Given the description of an element on the screen output the (x, y) to click on. 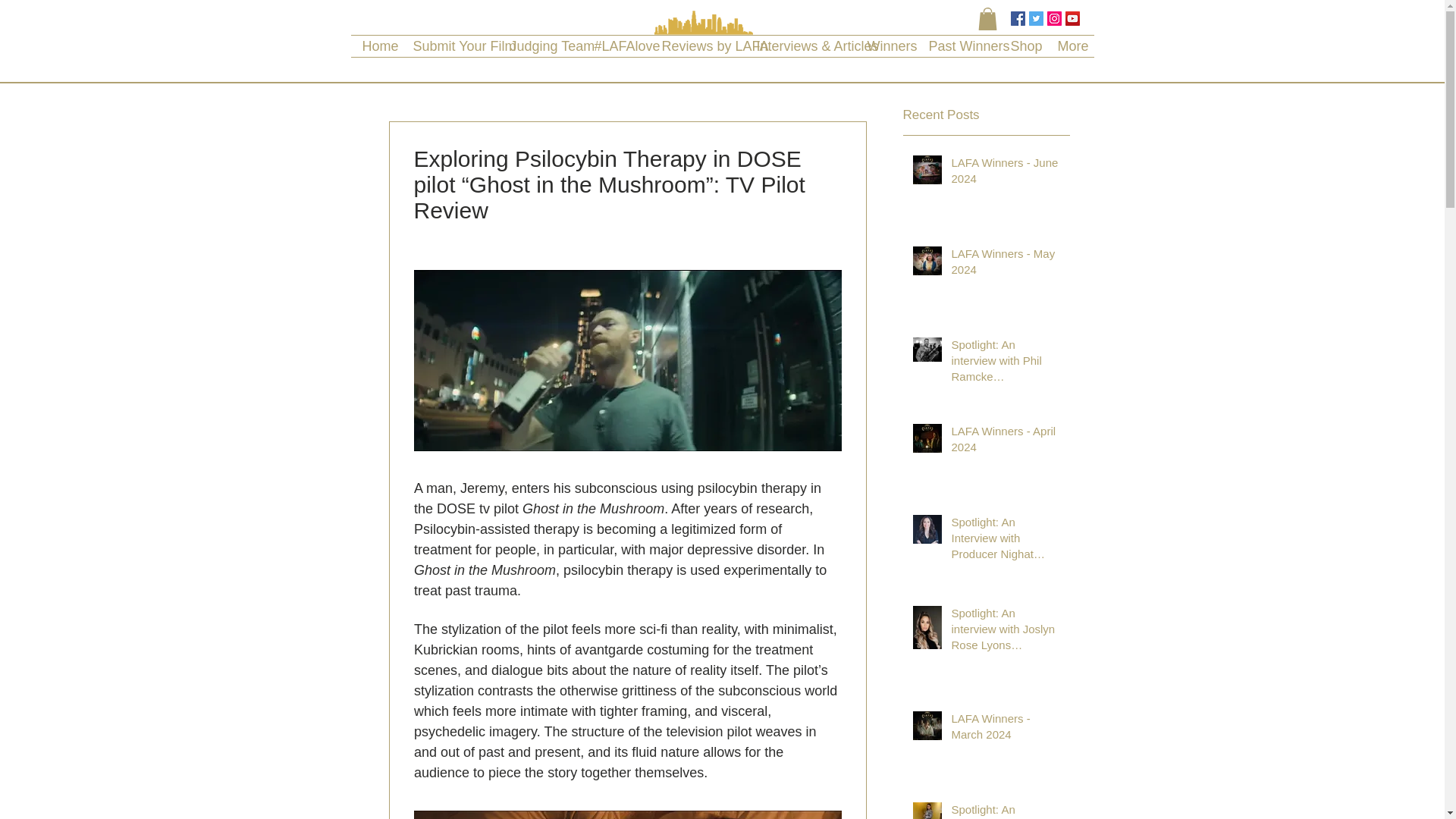
Submit Your Film (450, 46)
Home (375, 46)
Reviews by LAFA (697, 46)
Judging Team (541, 46)
Winners (886, 46)
